Given the description of an element on the screen output the (x, y) to click on. 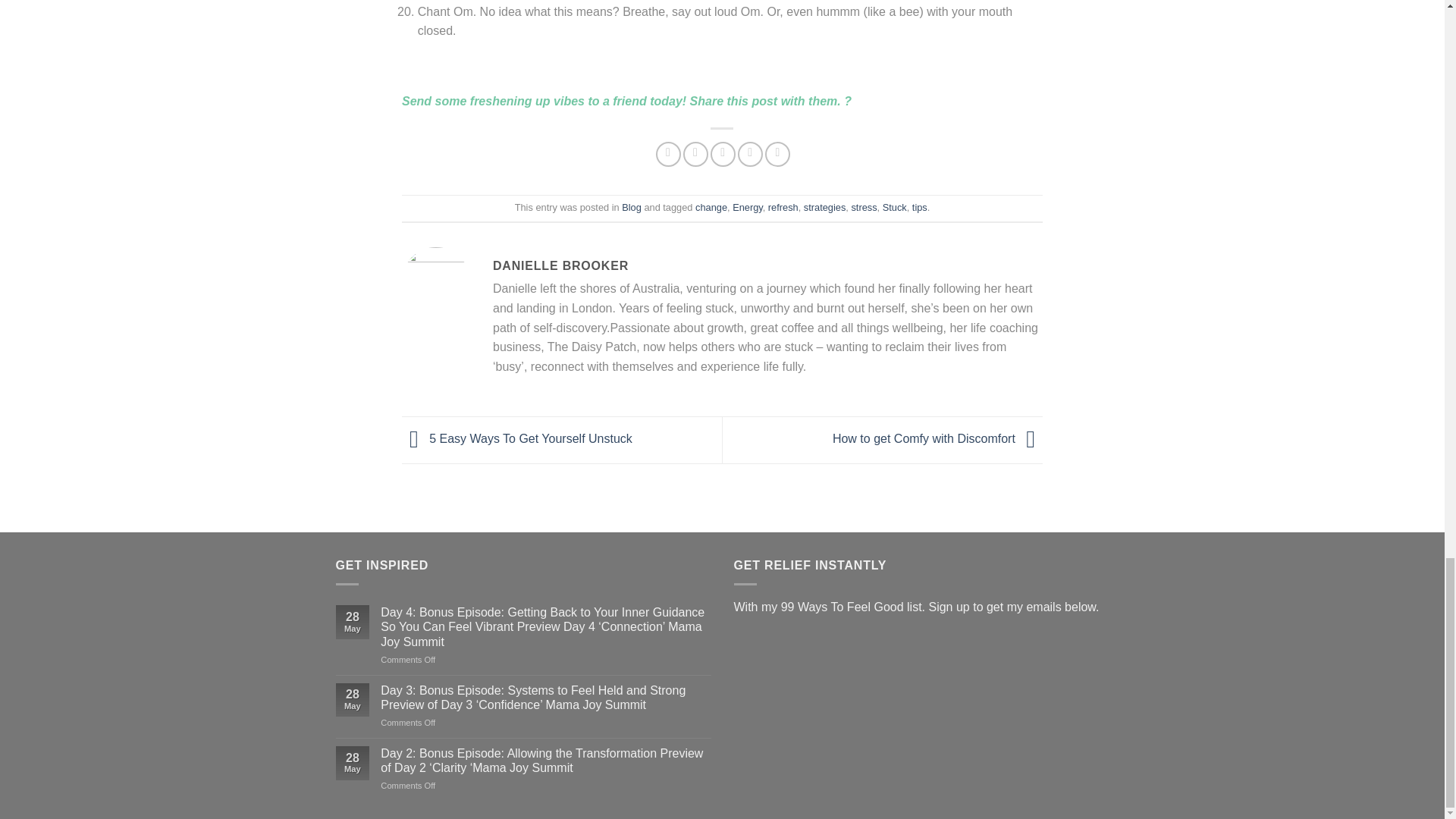
Share on LinkedIn (777, 154)
refresh (782, 206)
strategies (824, 206)
stress (863, 206)
Energy (747, 206)
Blog (631, 206)
change (710, 206)
Email to a Friend (722, 154)
Stuck (894, 206)
Share on Facebook (668, 154)
Share on Twitter (694, 154)
Pin on Pinterest (750, 154)
